Given the description of an element on the screen output the (x, y) to click on. 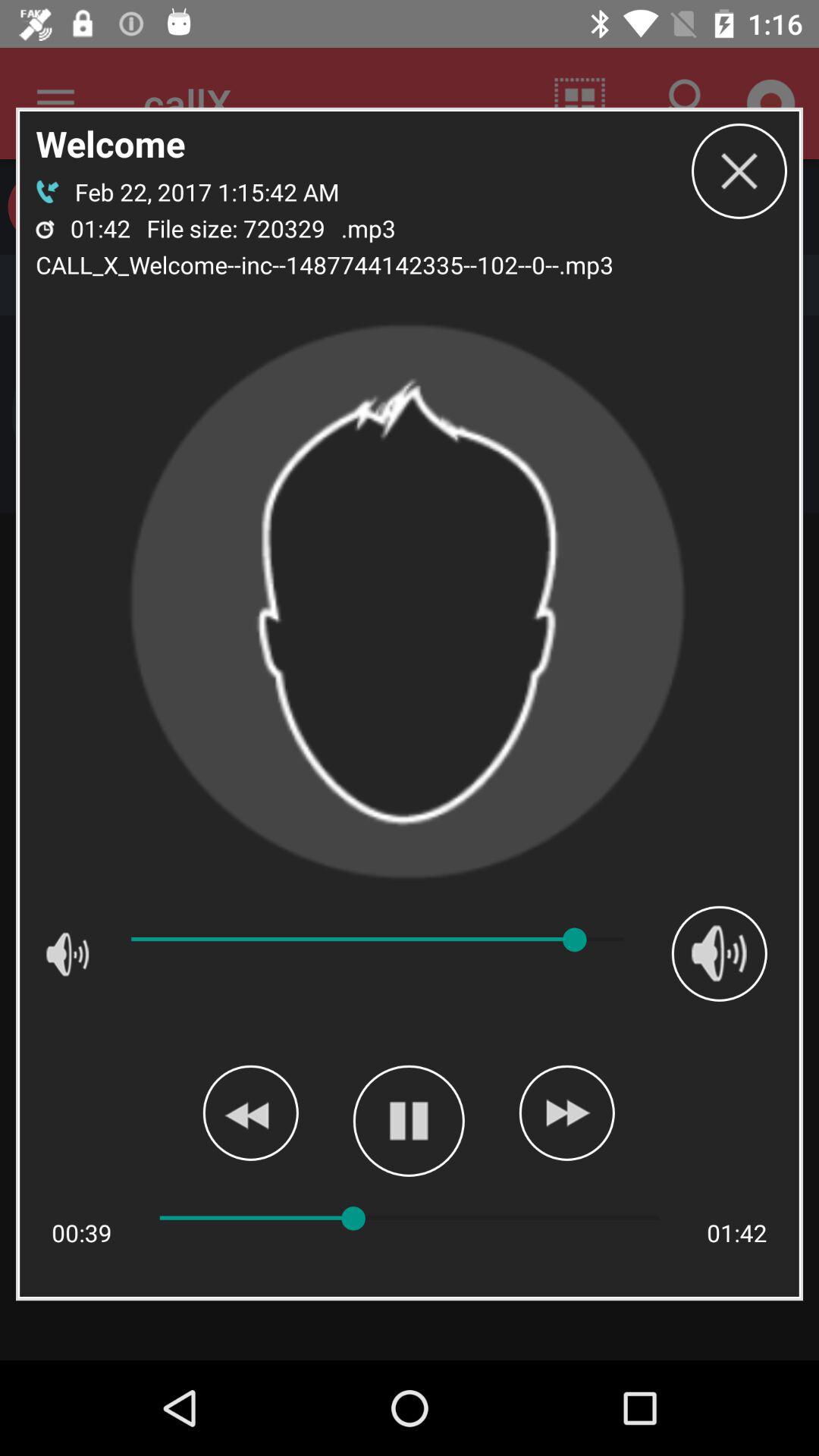
pause audio (408, 1120)
